Given the description of an element on the screen output the (x, y) to click on. 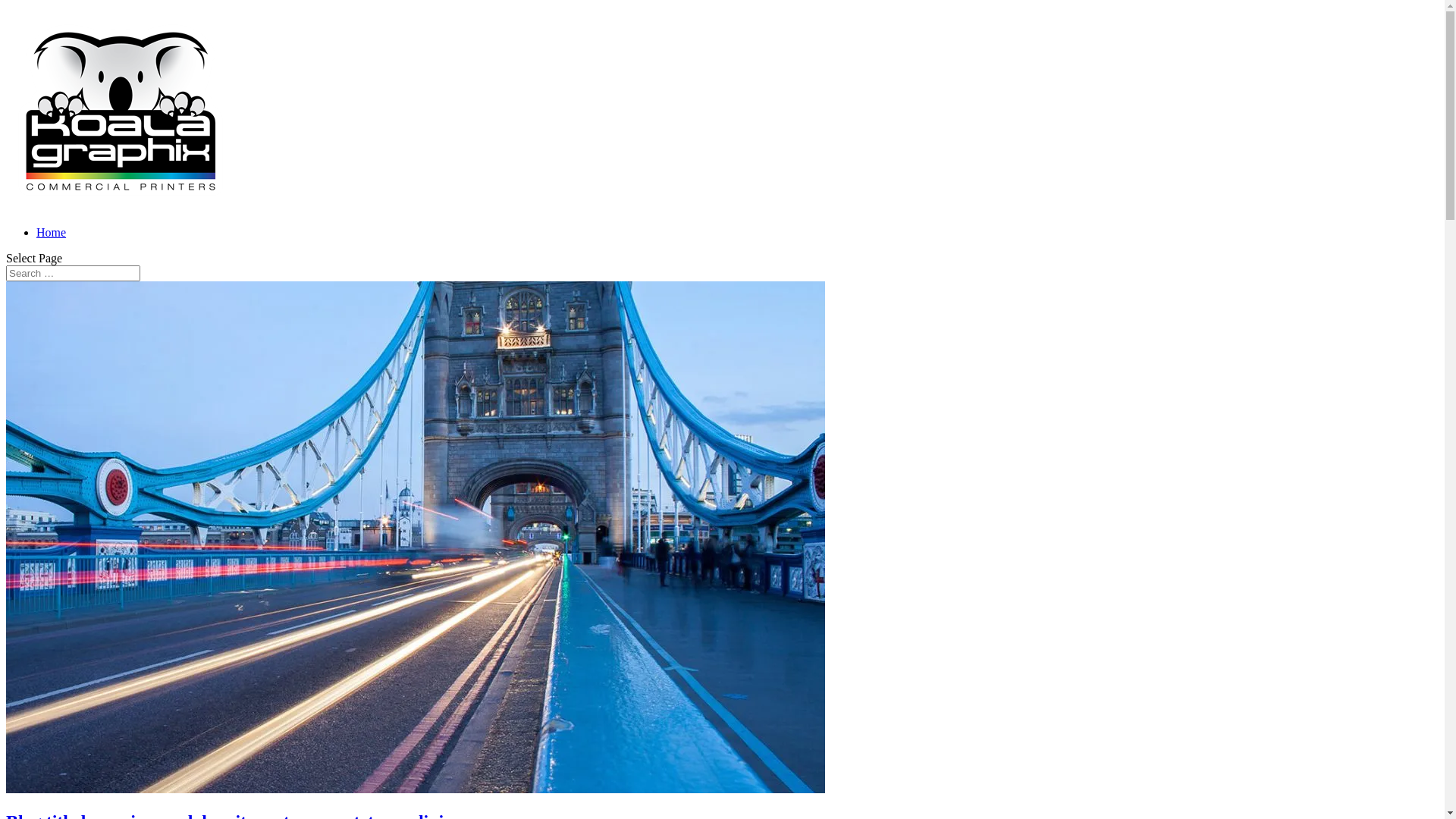
Search for: Element type: hover (73, 273)
Home Element type: text (50, 231)
